Given the description of an element on the screen output the (x, y) to click on. 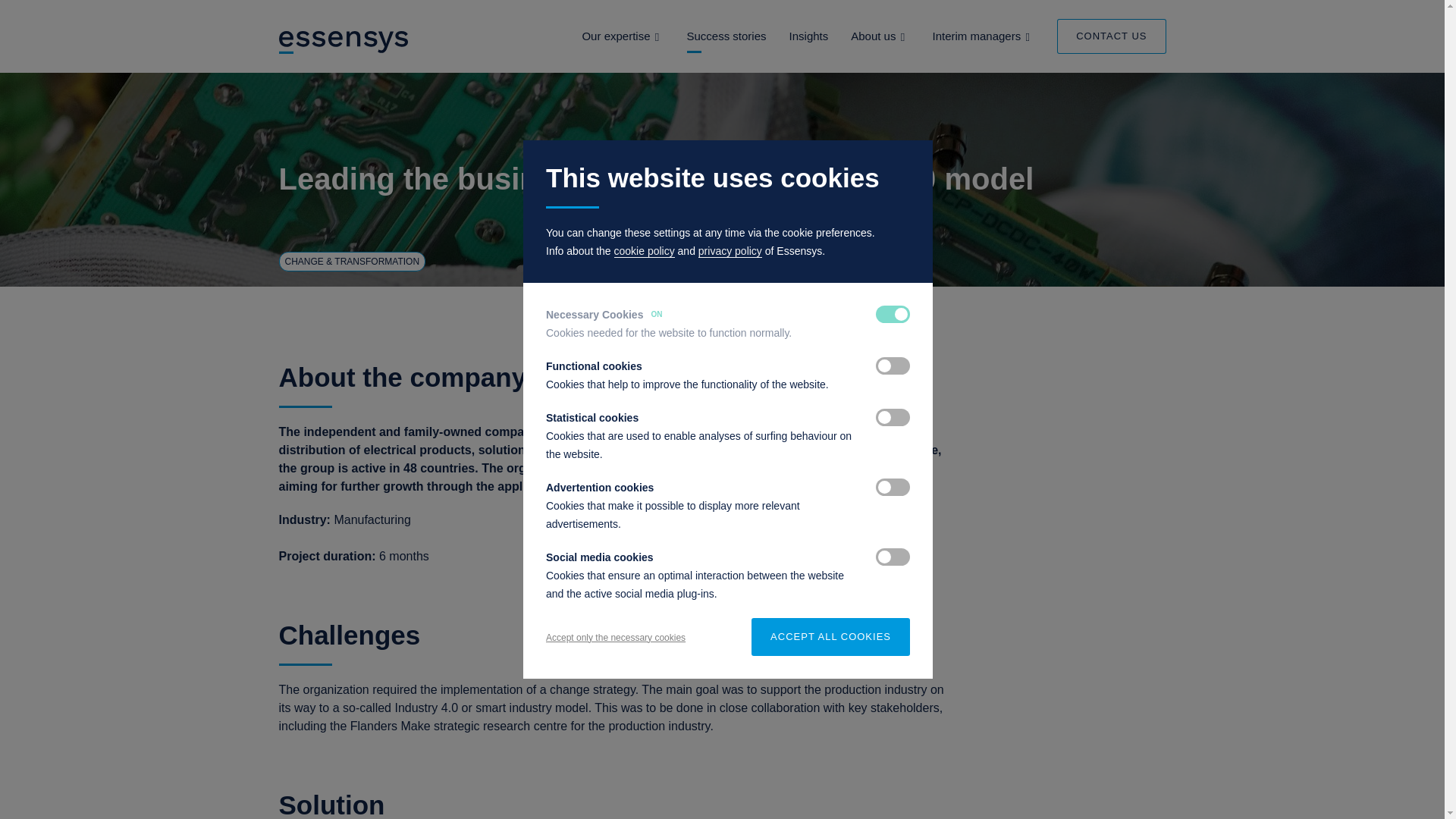
Our expertise (614, 35)
ACCEPT ALL COOKIES (830, 637)
Home (344, 41)
CONTACT US (1111, 36)
Success stories (727, 35)
cookie policy (644, 250)
Accept only the necessary cookies (615, 637)
privacy policy (729, 250)
About us (872, 35)
Insights (808, 35)
